Given the description of an element on the screen output the (x, y) to click on. 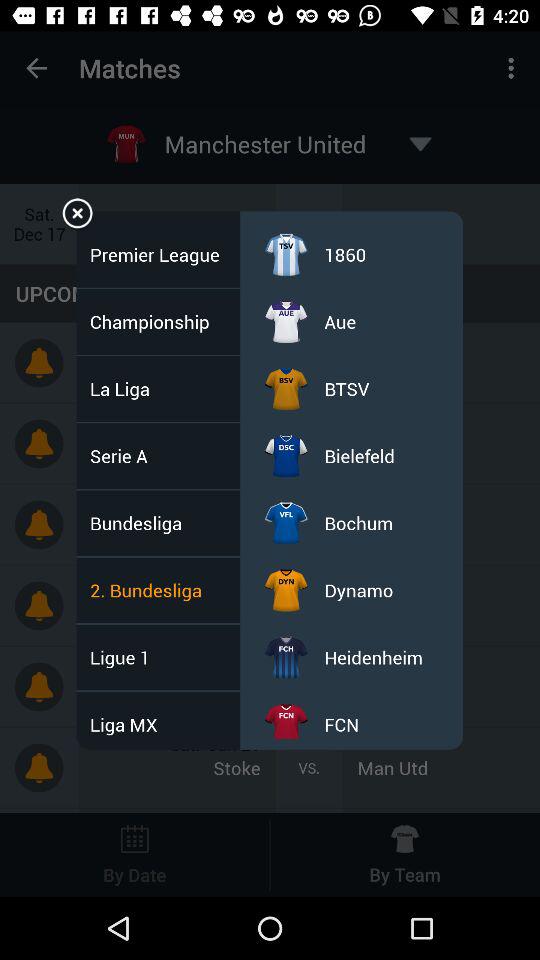
turn off the item below ligue 1 (129, 724)
